Given the description of an element on the screen output the (x, y) to click on. 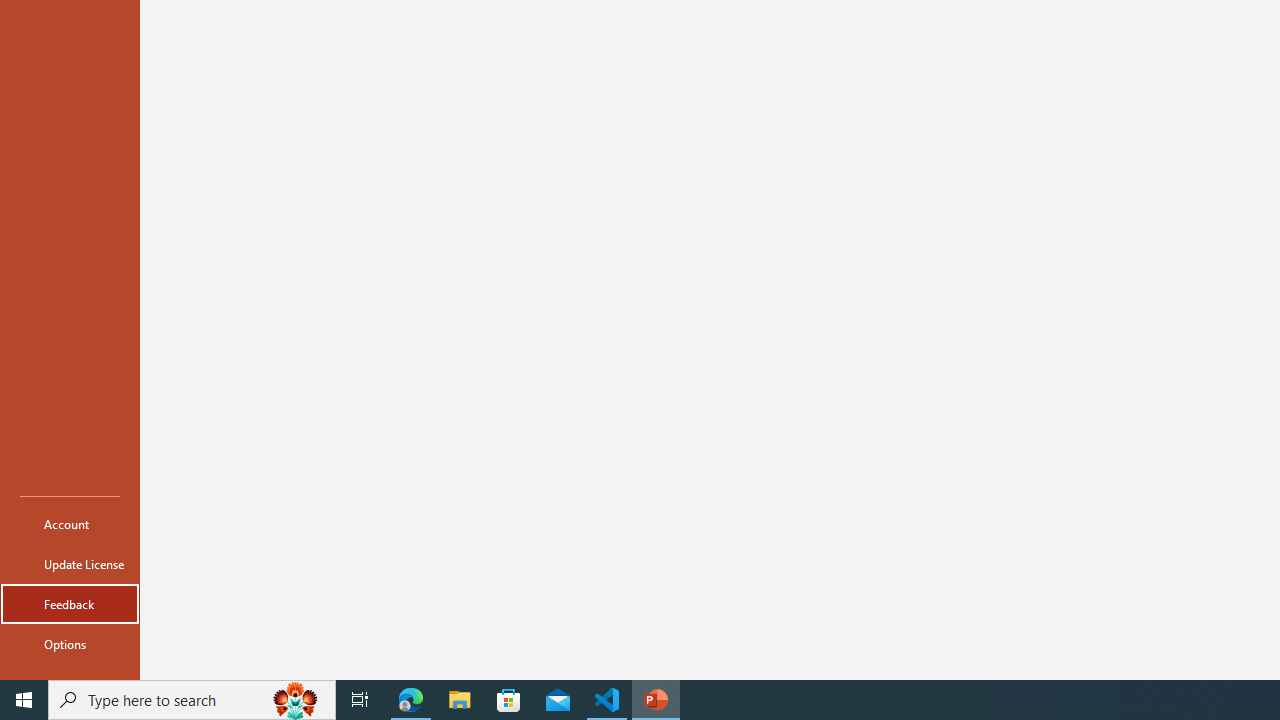
Options (69, 643)
Feedback (69, 603)
Account (69, 523)
Update License (69, 563)
